Given the description of an element on the screen output the (x, y) to click on. 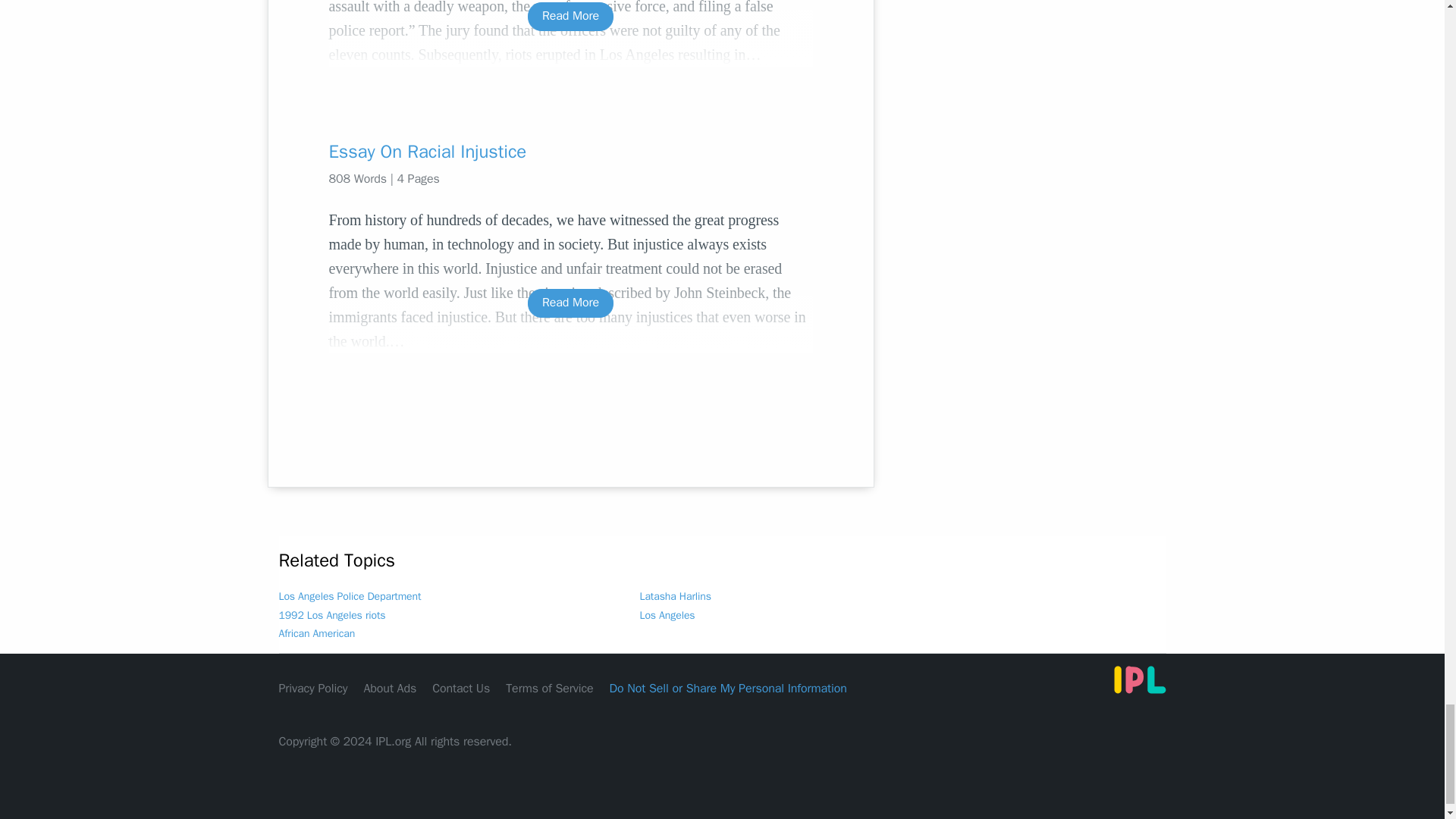
Latasha Harlins (675, 595)
About Ads (389, 688)
Contact Us (460, 688)
Terms of Service (548, 688)
Los Angeles (667, 615)
Los Angeles Police Department (350, 595)
Privacy Policy (313, 688)
1992 Los Angeles riots (332, 615)
African American (317, 633)
